Given the description of an element on the screen output the (x, y) to click on. 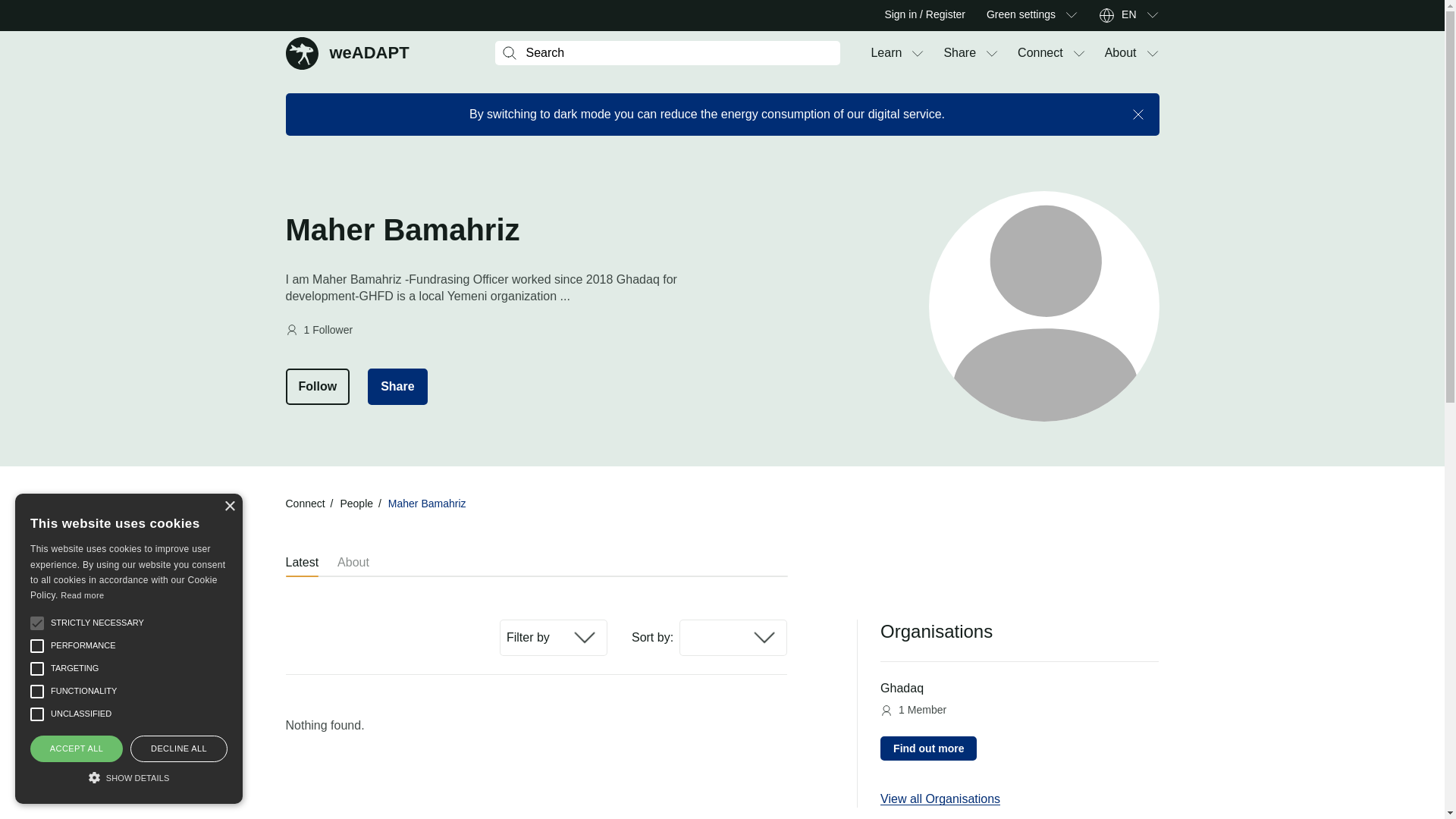
Learn (885, 53)
EN (1128, 14)
Submenu (917, 53)
Submenu (1078, 53)
About (347, 52)
About Submenu (1121, 53)
Connect (1151, 53)
Translate Submenu (1039, 53)
Share (1151, 14)
Green settings (959, 53)
Submenu (1021, 14)
Share Submenu (1071, 14)
